Given the description of an element on the screen output the (x, y) to click on. 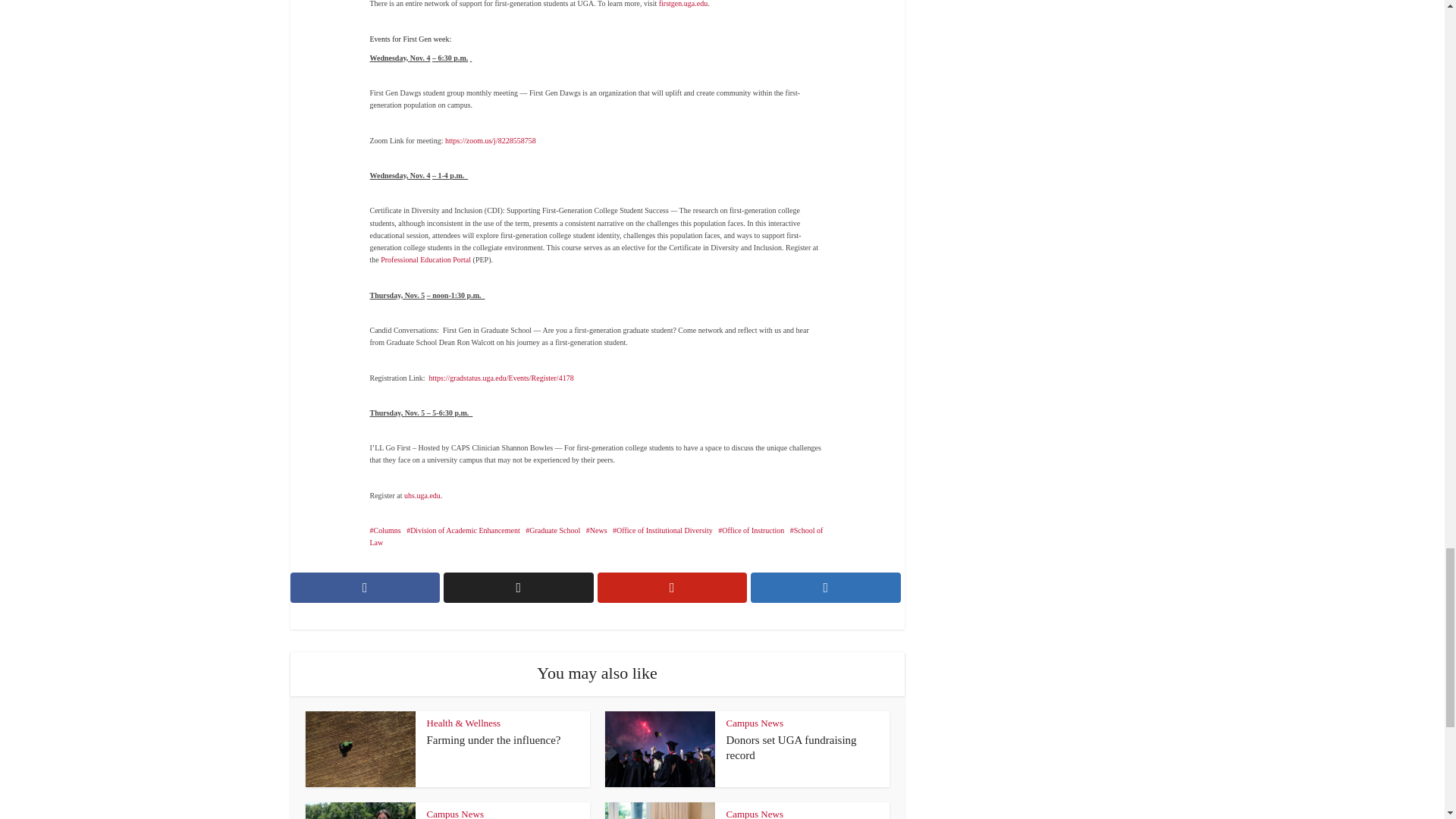
uhs.uga.edu.   (424, 495)
Farming under the influence? (493, 739)
firstgen.uga.edu (683, 3)
Donors set UGA fundraising record (791, 747)
Professional Education Portal  (425, 259)
